Given the description of an element on the screen output the (x, y) to click on. 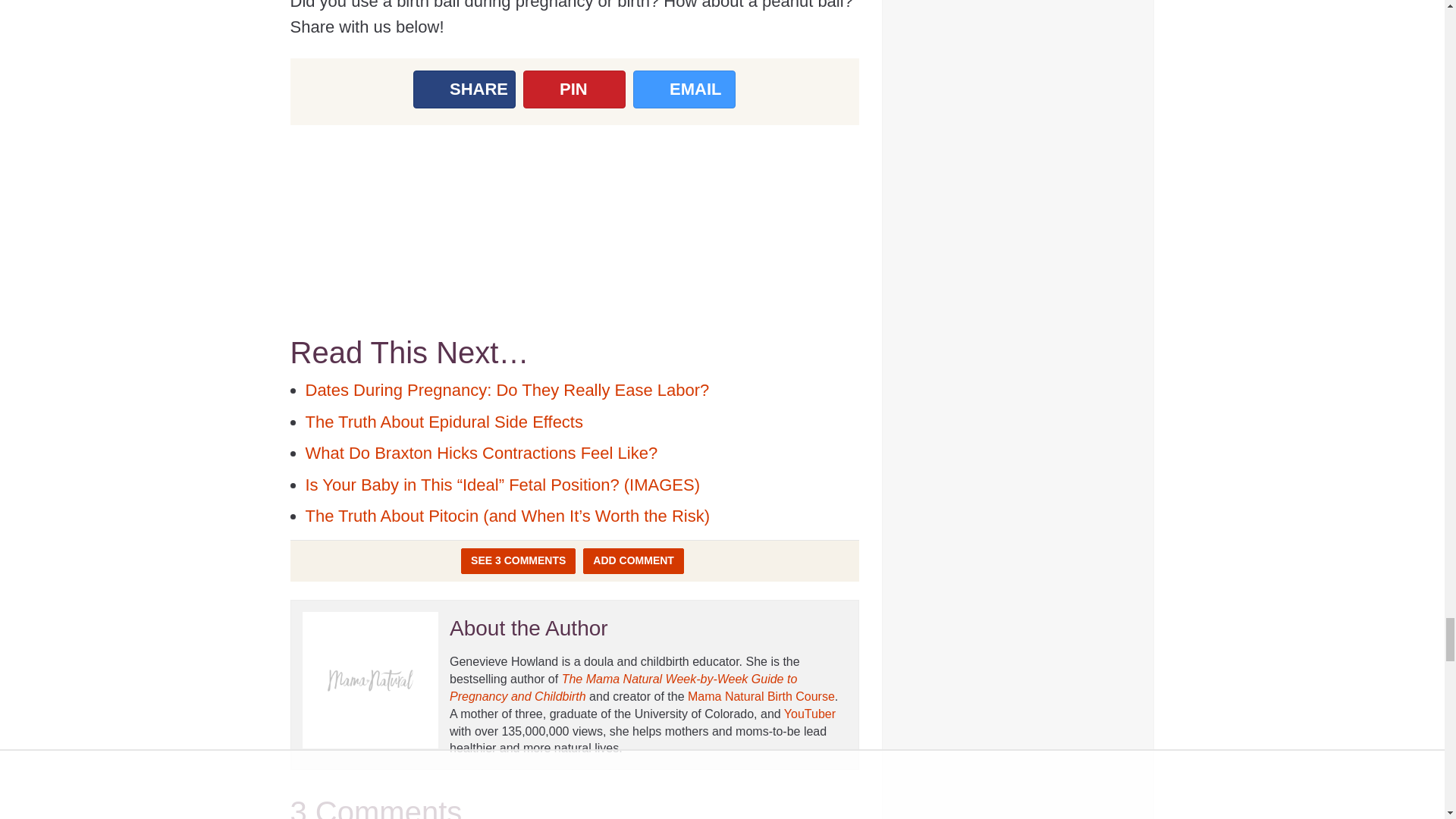
What Do Braxton Hicks Contractions Feel Like? (481, 452)
ADD COMMENT (633, 560)
The Truth About Epidural Side Effects (443, 421)
SEE 3 COMMENTS (518, 560)
Dates During Pregnancy: Do They Really Ease Labor? (506, 389)
